Given the description of an element on the screen output the (x, y) to click on. 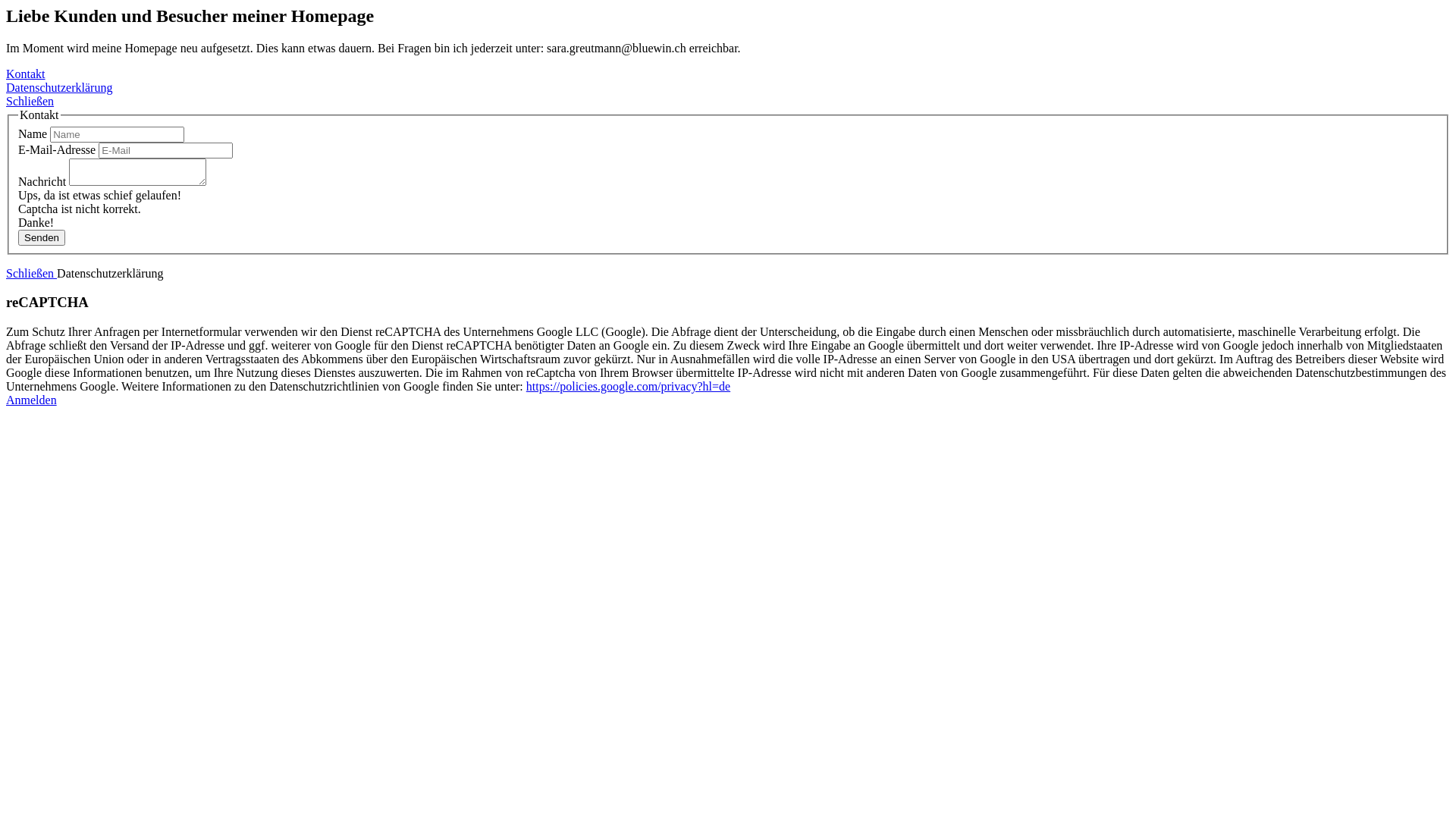
Kontakt Element type: text (25, 73)
Senden Element type: text (41, 236)
Anmelden Element type: text (31, 399)
https://policies.google.com/privacy?hl=de Element type: text (628, 385)
